Given the description of an element on the screen output the (x, y) to click on. 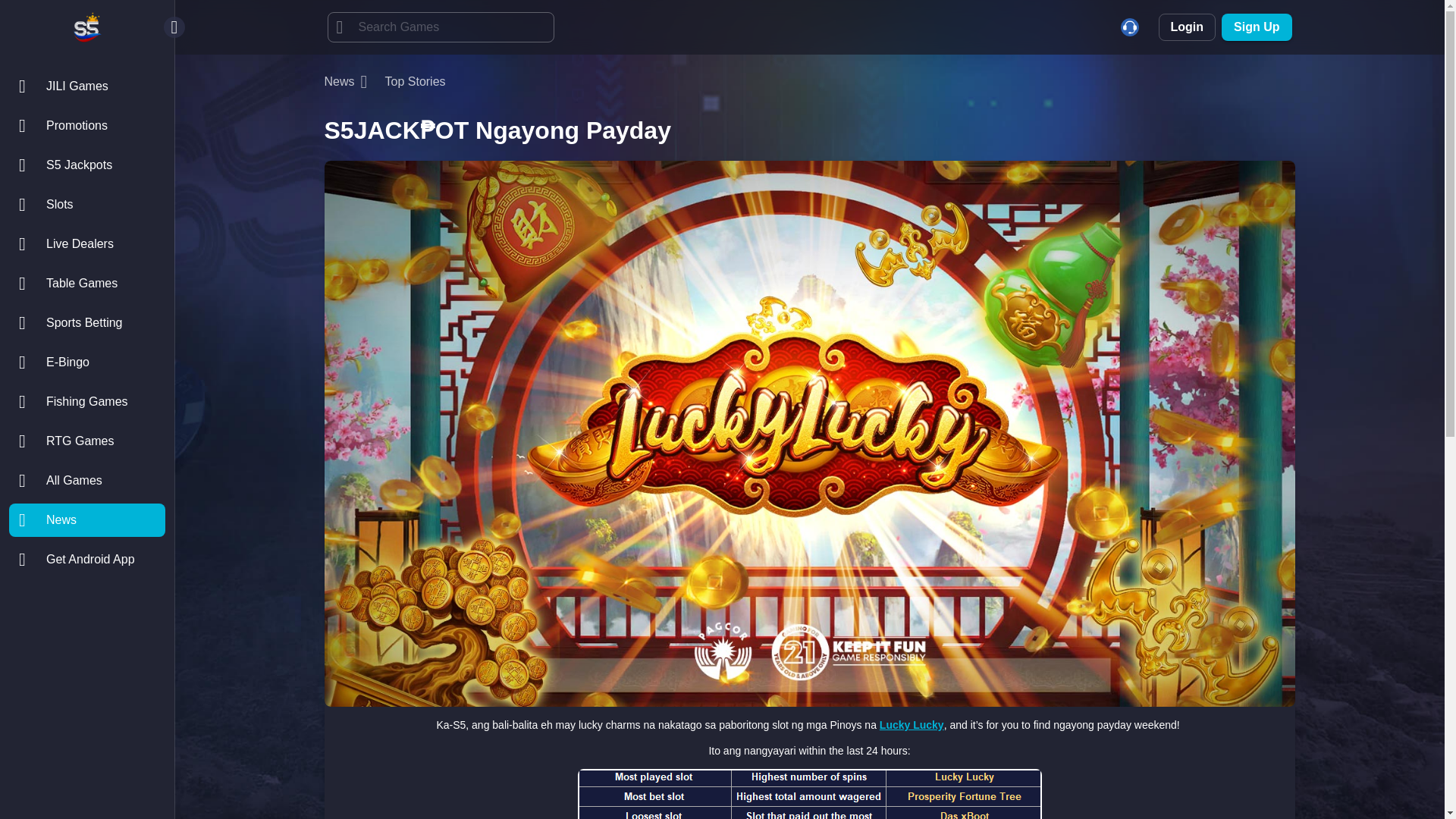
Live Dealers (86, 244)
Get Android App (86, 559)
Sign Up (1256, 26)
Top Stories (415, 81)
Sports Betting (86, 322)
Lucky Lucky (911, 725)
Login (1186, 26)
Slots (86, 204)
Promotions (86, 125)
S5 Jackpots (86, 164)
Fishing Games (86, 401)
News (86, 520)
Table Games (86, 283)
JILI Games (86, 86)
All Games (86, 480)
